Given the description of an element on the screen output the (x, y) to click on. 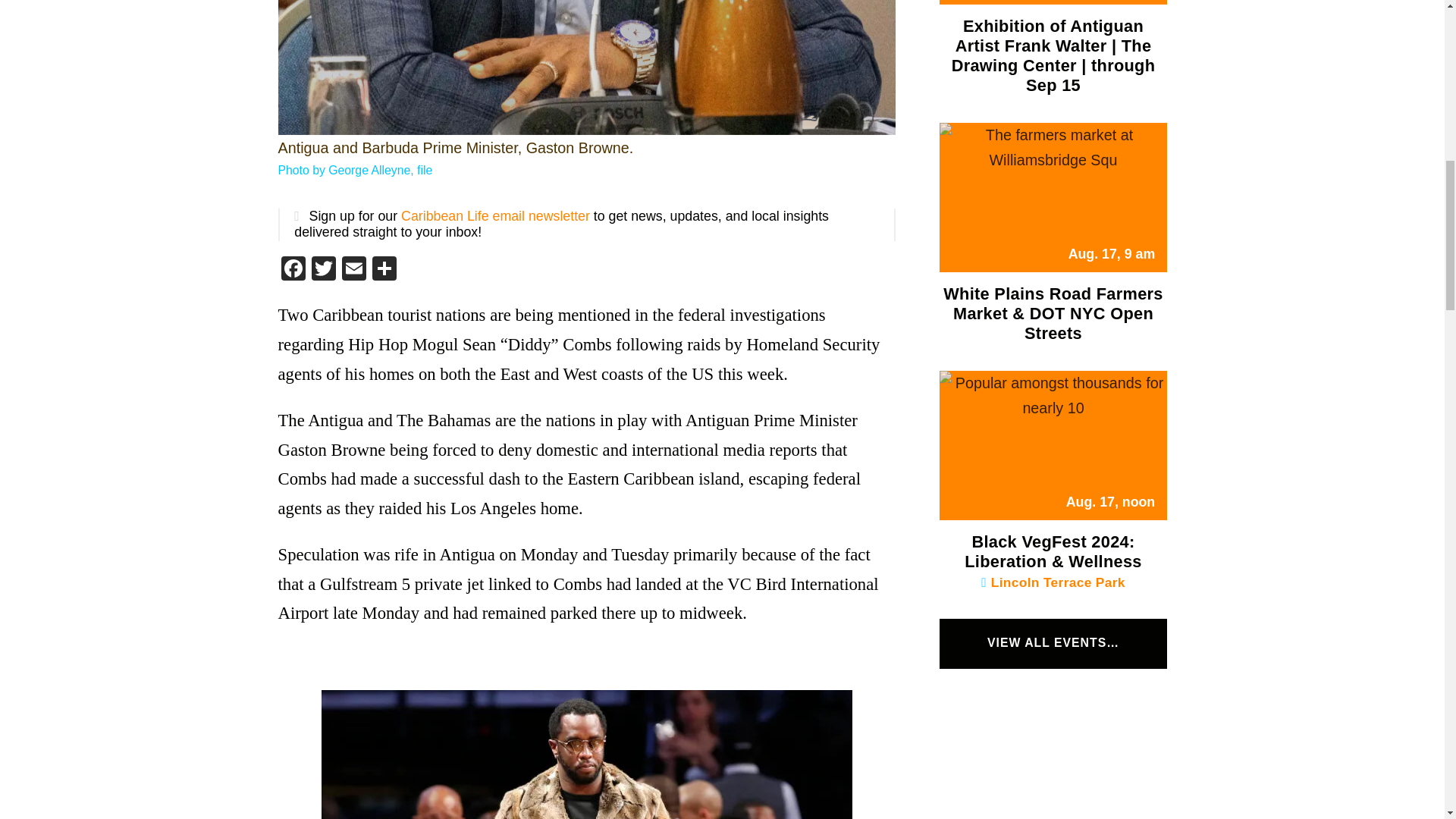
Email (352, 270)
Twitter (322, 270)
Facebook (292, 270)
